Given the description of an element on the screen output the (x, y) to click on. 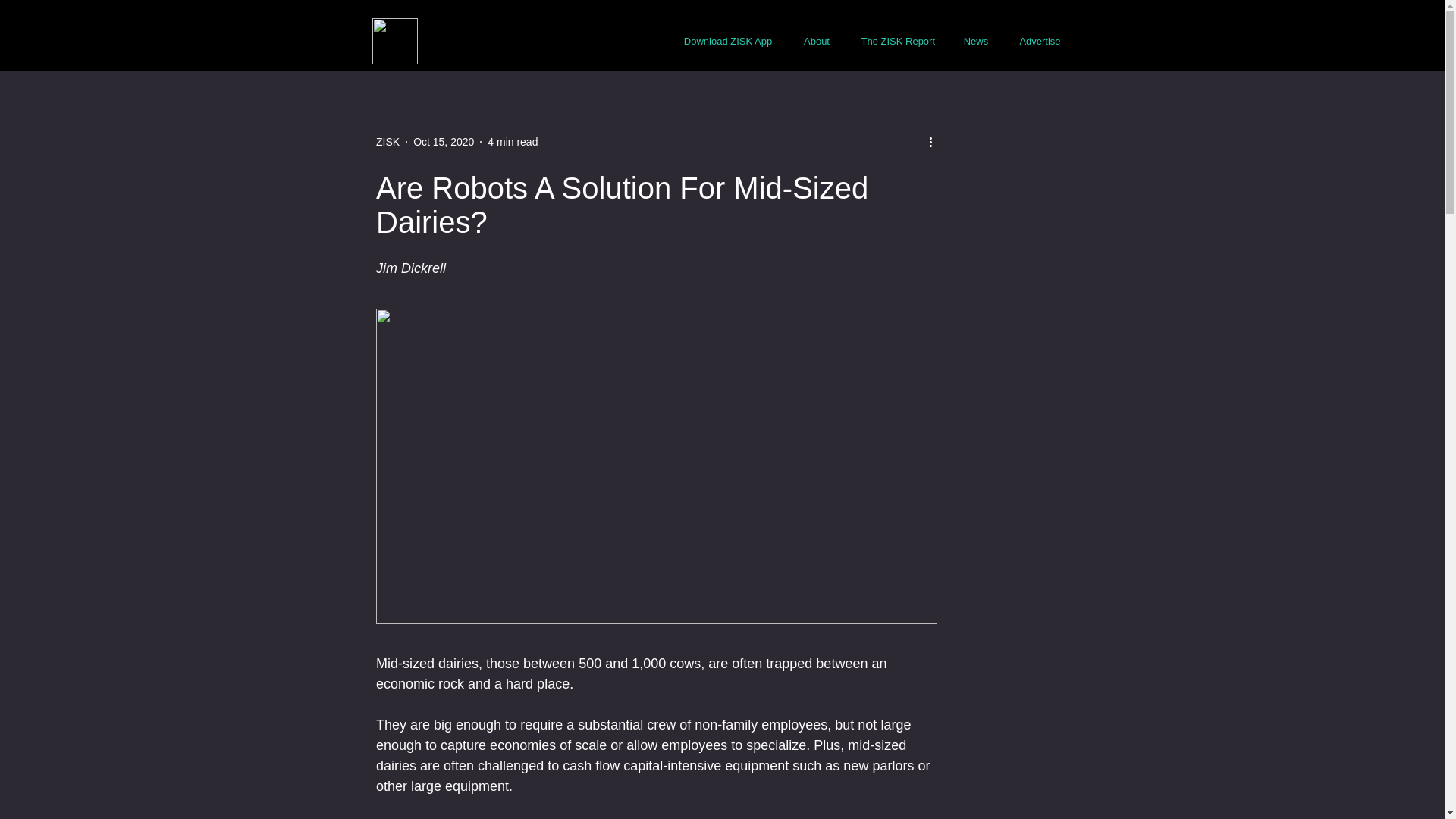
Advertise (1040, 40)
Download ZISK App (727, 40)
Oct 15, 2020 (443, 141)
ZISK (386, 141)
The ZISK Report (897, 40)
4 min read (512, 141)
